Given the description of an element on the screen output the (x, y) to click on. 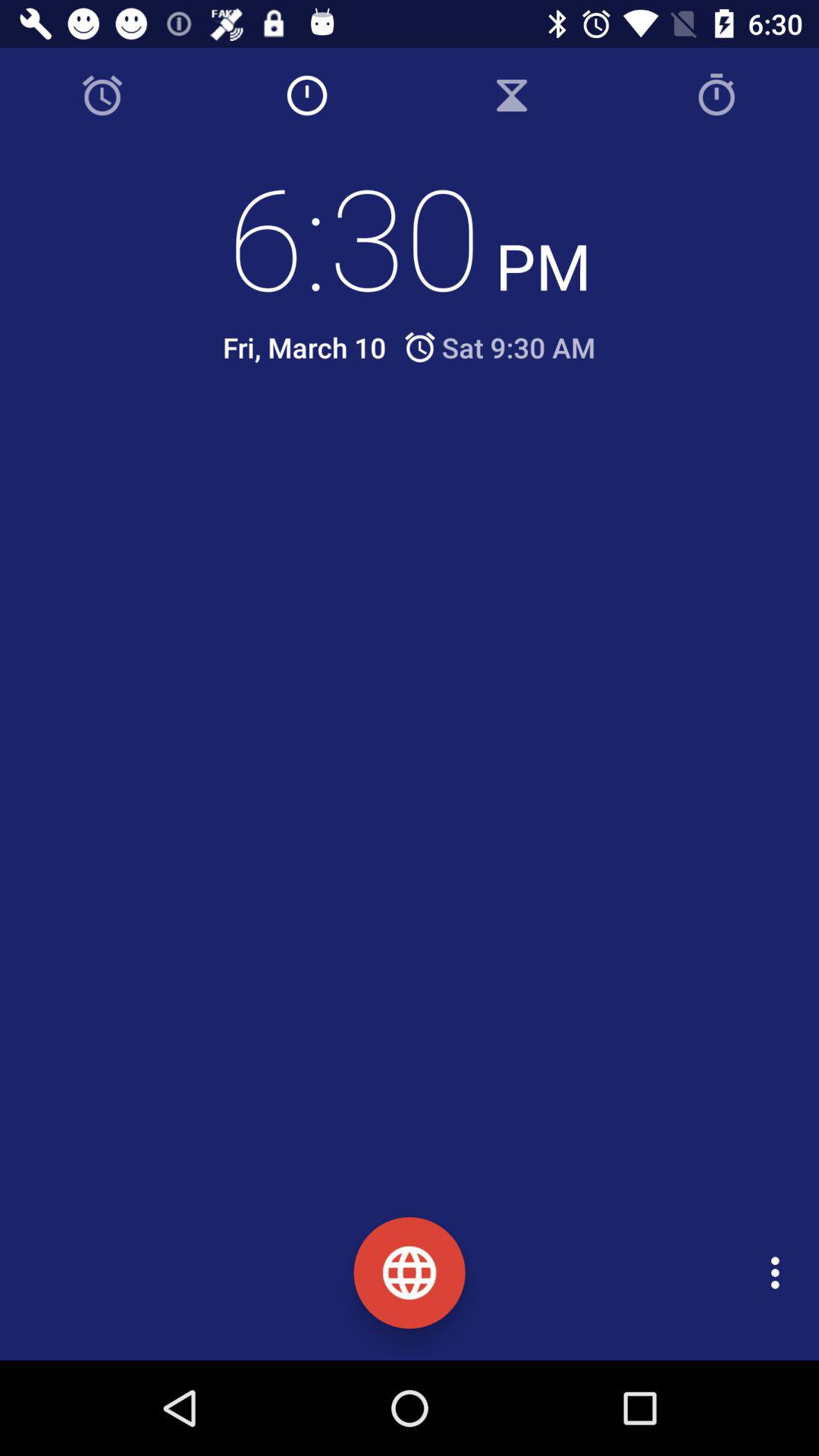
click the item below fri, march 10 icon (421, 453)
